Given the description of an element on the screen output the (x, y) to click on. 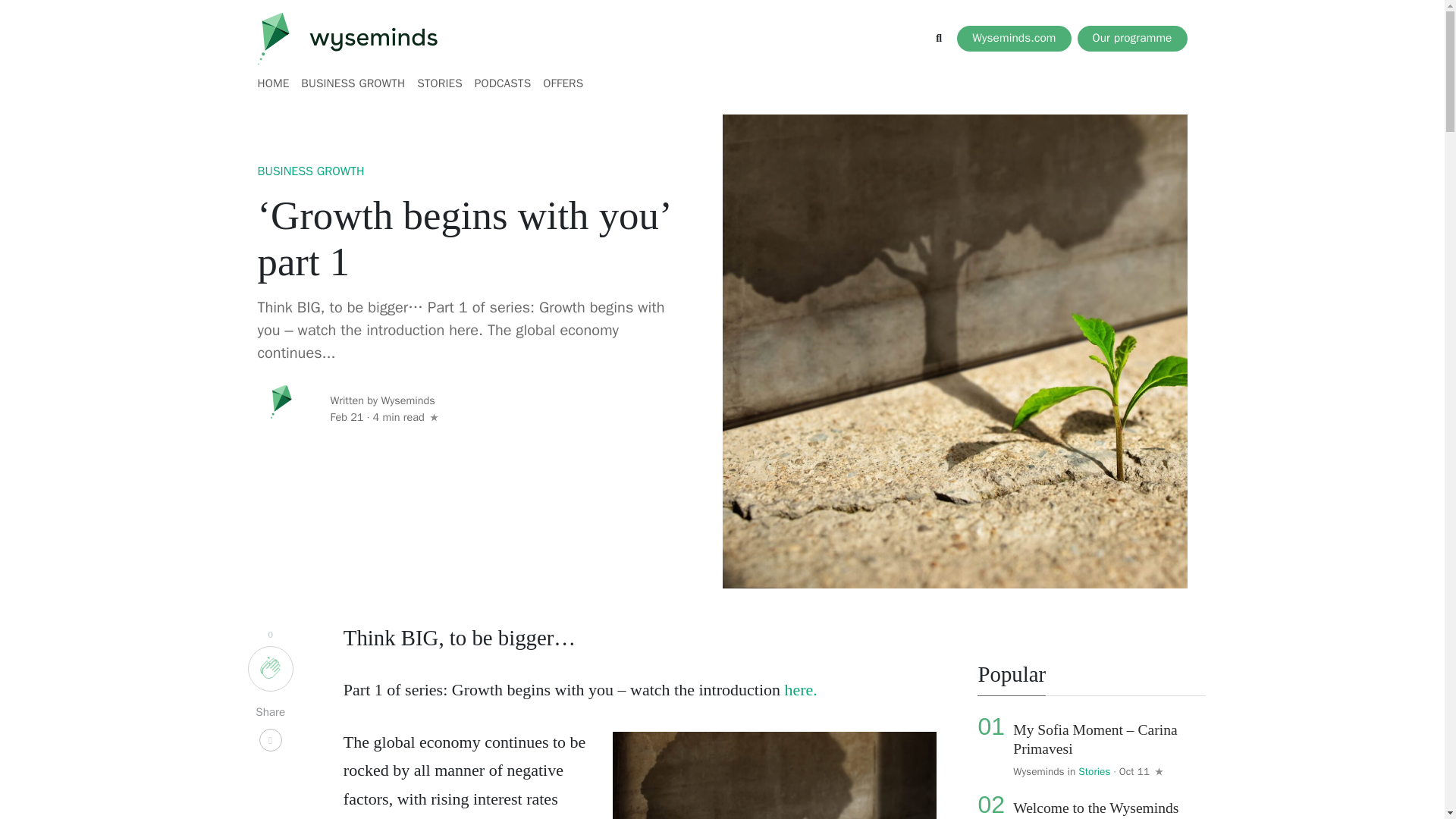
Written by Wyseminds (384, 401)
OFFERS (560, 83)
HOME (276, 83)
BUSINESS GROWTH (352, 83)
STORIES (439, 83)
Our programme (1131, 37)
Wyseminds (1038, 771)
PODCASTS (502, 83)
Wyseminds.com (1013, 37)
